Given the description of an element on the screen output the (x, y) to click on. 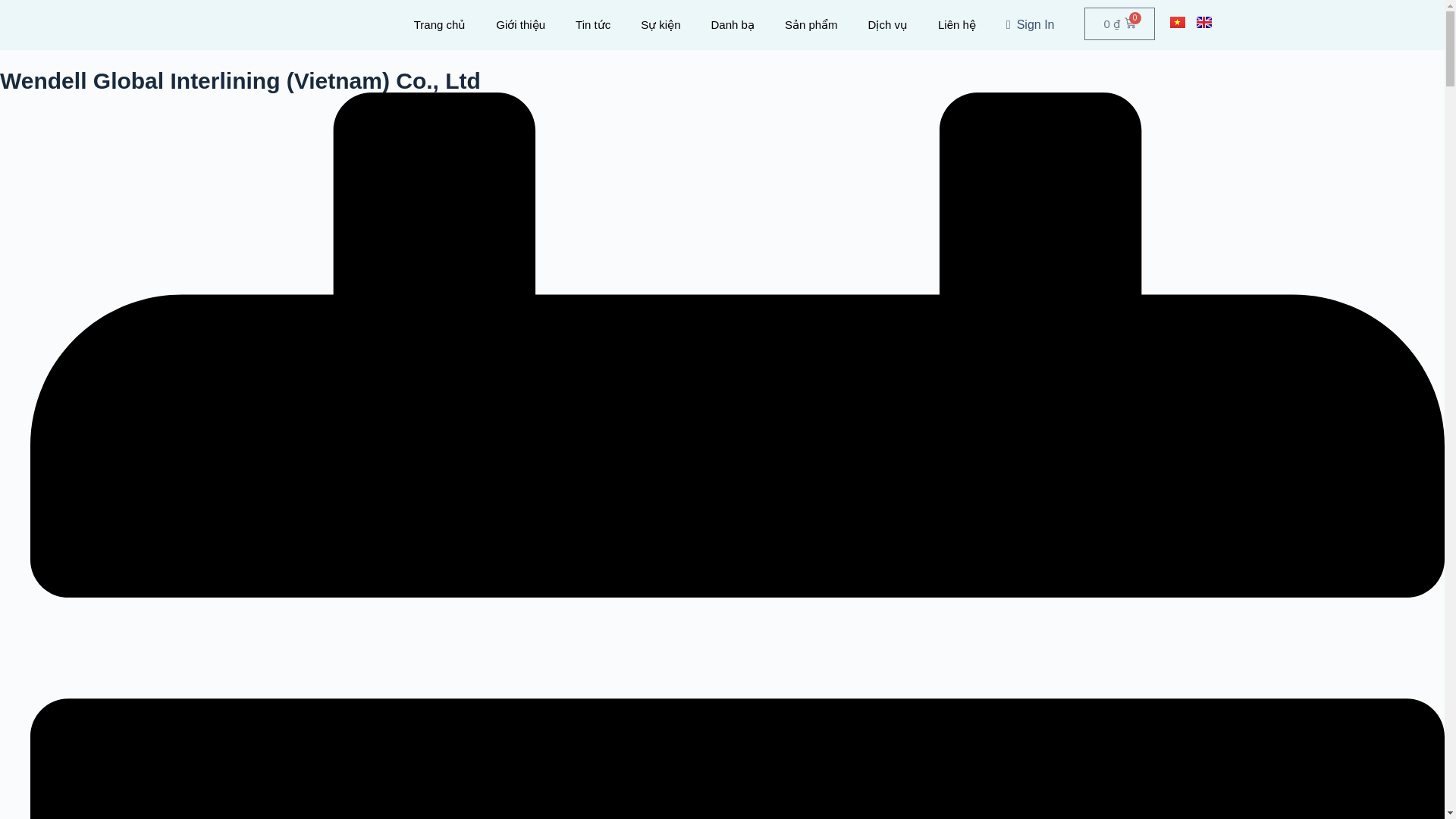
Sign In (1030, 24)
